Given the description of an element on the screen output the (x, y) to click on. 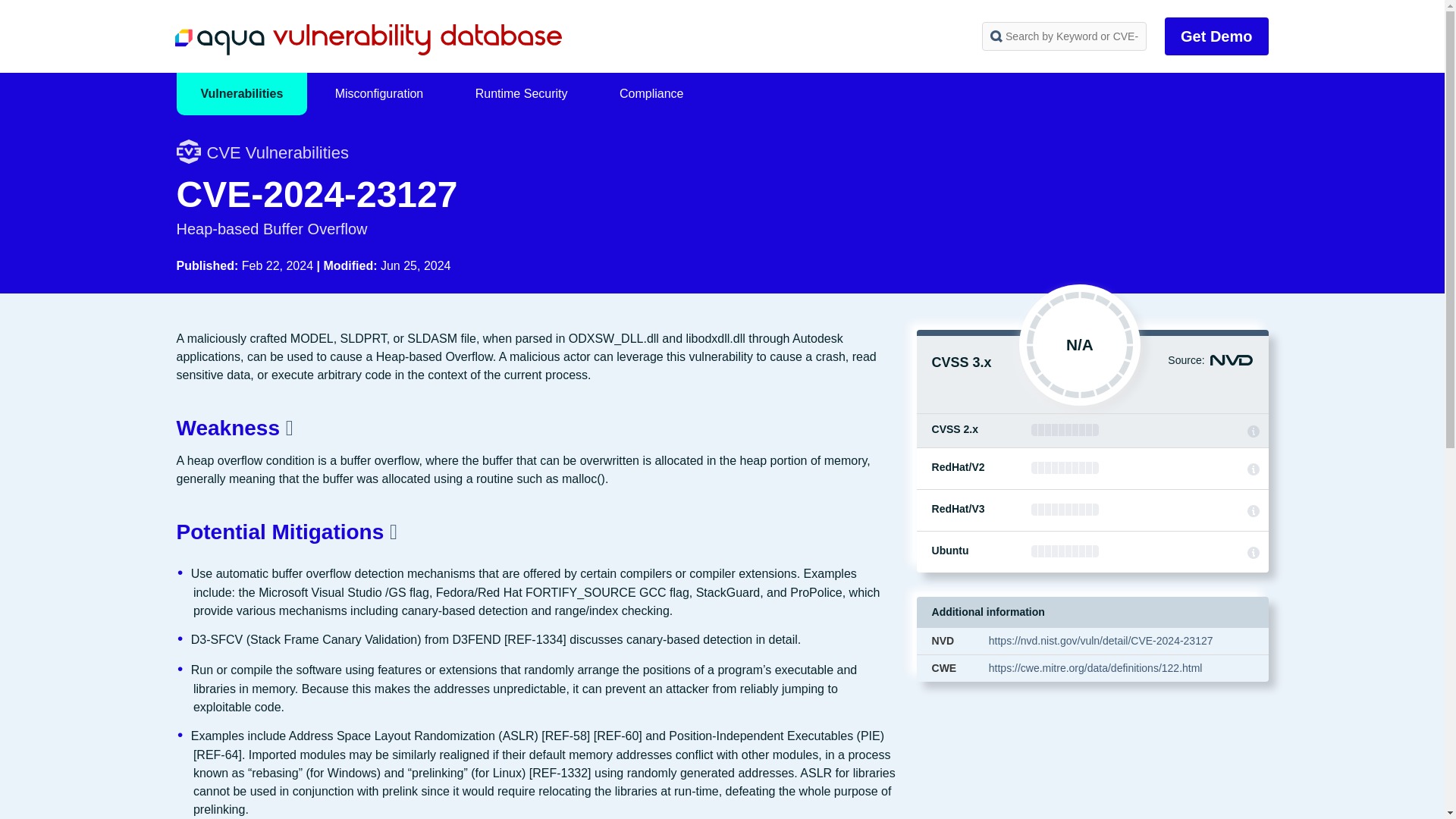
Compliance (651, 93)
Get Demo (1216, 36)
Vulnerabilities (241, 93)
Aqua Vulnerability Database (367, 39)
Aqua Vulnerability Database (367, 39)
Misconfiguration (379, 93)
Runtime Security (521, 93)
